Given the description of an element on the screen output the (x, y) to click on. 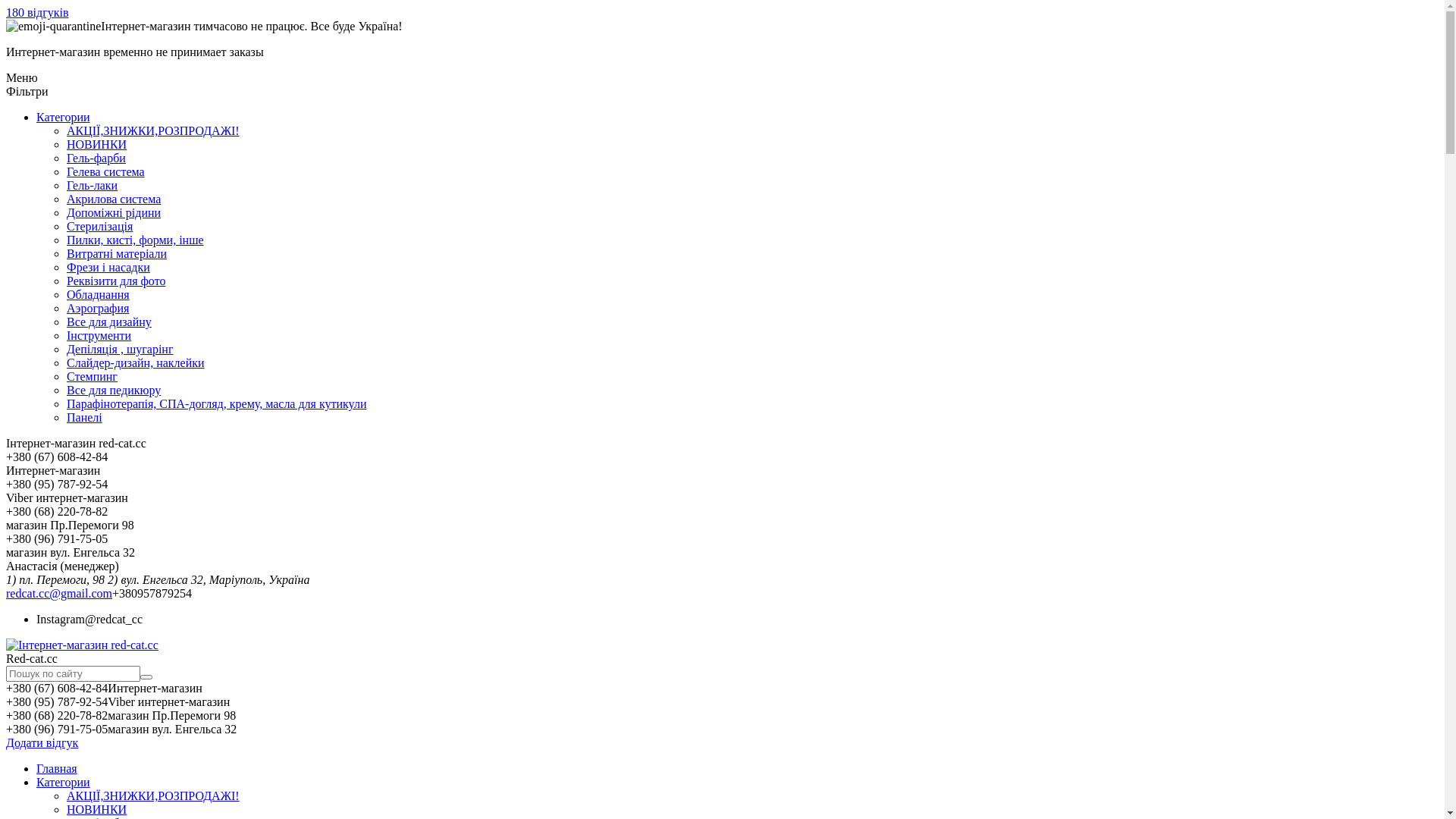
redcat.cc@gmail.com Element type: text (59, 592)
